Given the description of an element on the screen output the (x, y) to click on. 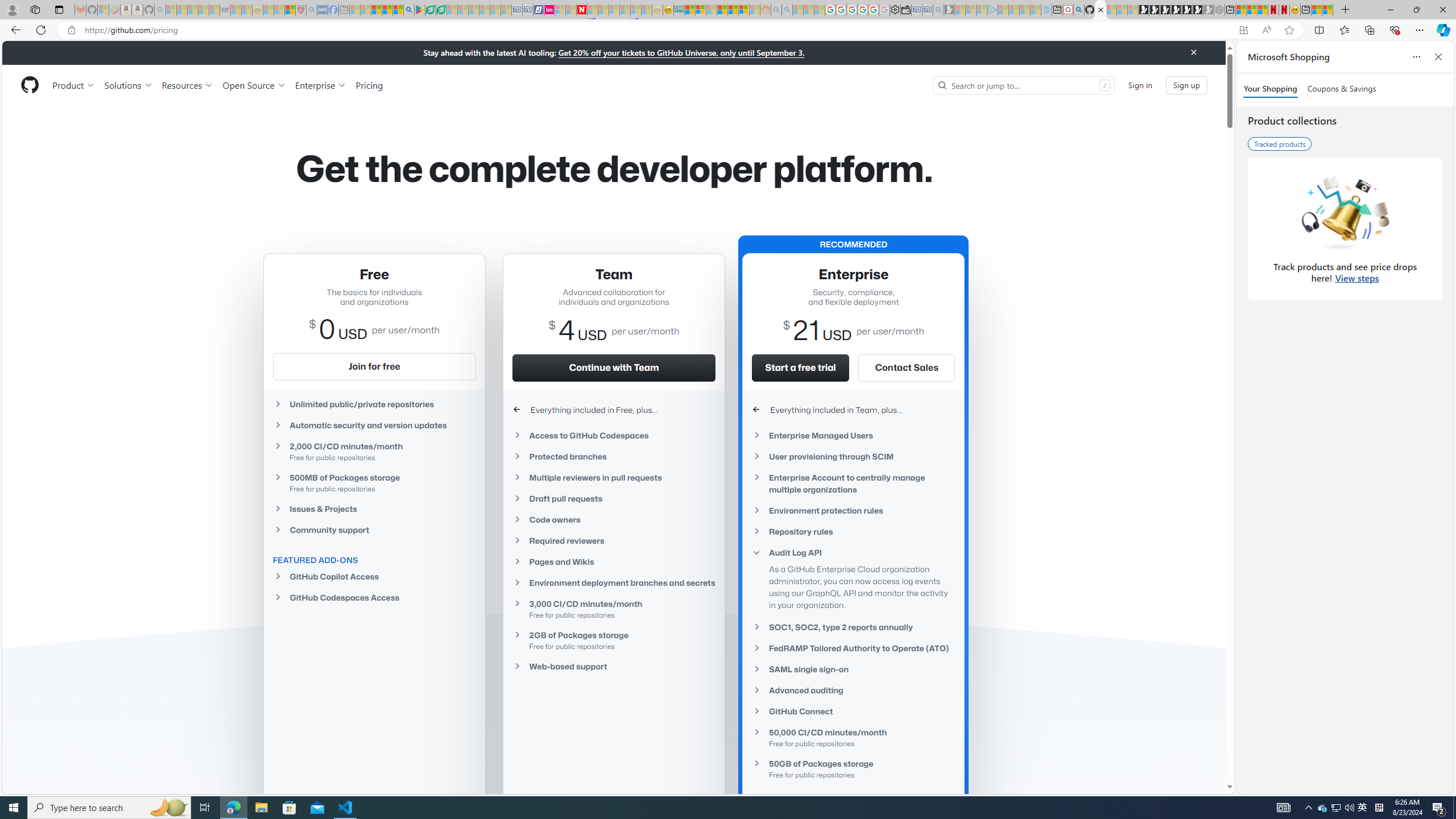
Protected branches (614, 456)
Pets - MSN (387, 9)
Advanced auditing (853, 689)
Start a free trial (799, 367)
Contact Sales (906, 367)
2GB of Packages storage Free for public repositories (614, 640)
Protected branches (614, 456)
3,000 CI/CD minutes/month Free for public repositories (614, 608)
